Given the description of an element on the screen output the (x, y) to click on. 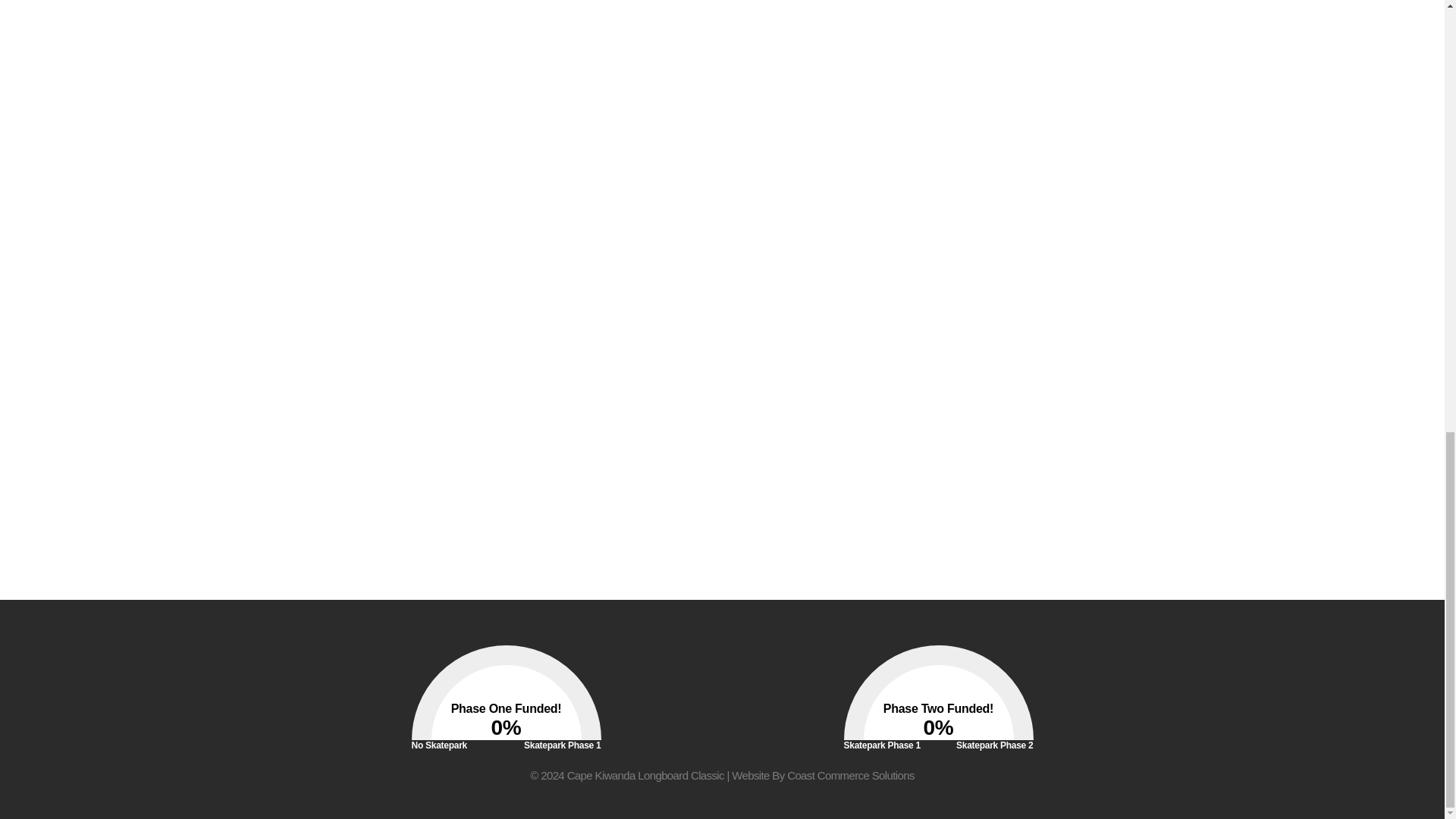
Cape Kiwanda Longboard Classic (645, 775)
Coast Commerce Solutions (850, 775)
